Given the description of an element on the screen output the (x, y) to click on. 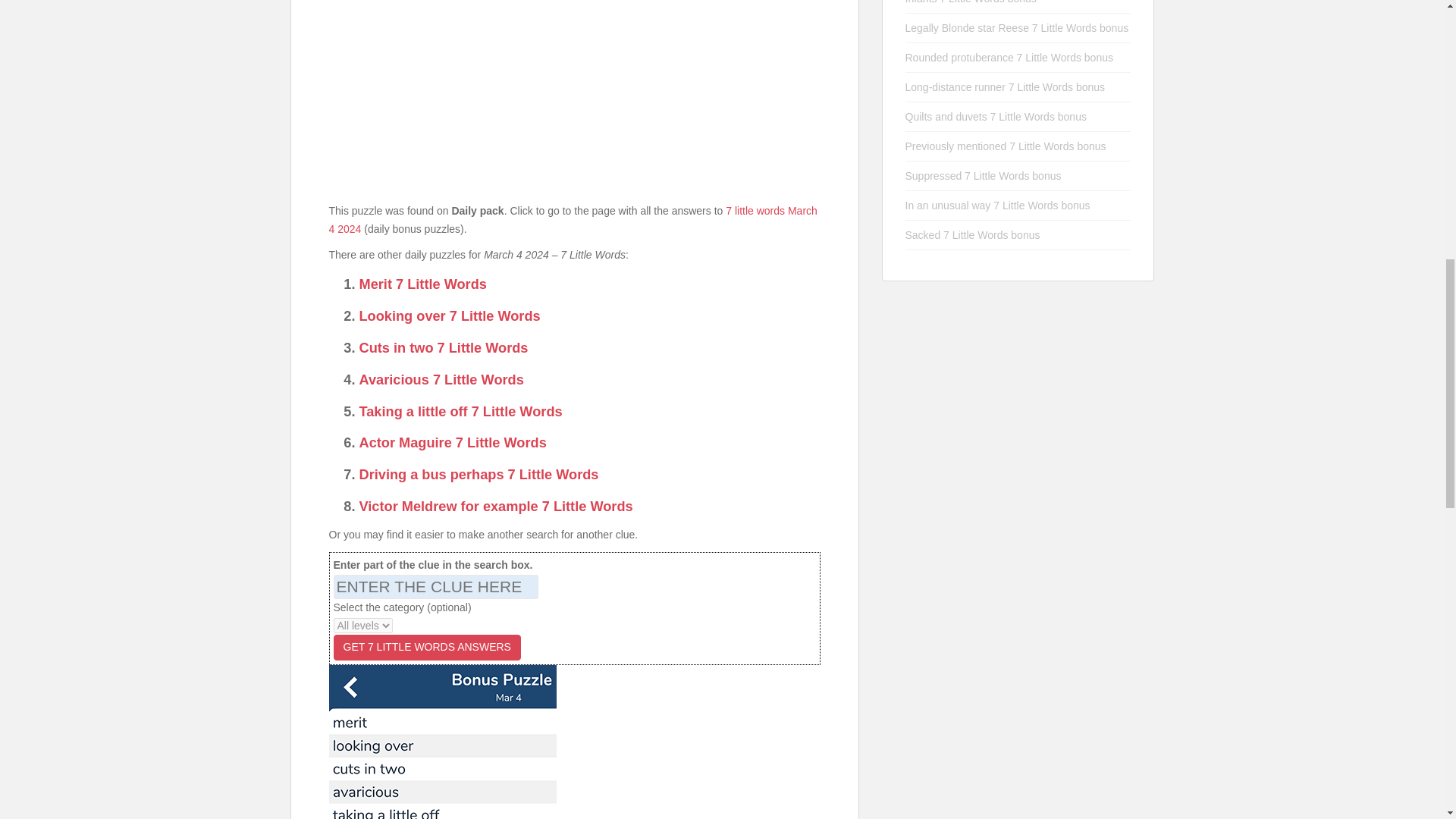
Advertisement (574, 94)
Victor Meldrew for example 7 Little Words (496, 506)
GET 7 LITTLE WORDS ANSWERS (427, 647)
Cuts in two 7 Little Words (443, 347)
Actor Maguire 7 Little Words (453, 442)
Taking a little off 7 Little Words (460, 410)
Looking over 7 Little Words (449, 315)
Driving a bus perhaps 7 Little Words (478, 474)
7 little words March 4 2024 (572, 219)
Avaricious 7 Little Words (441, 379)
Merit 7 Little Words (422, 283)
